Given the description of an element on the screen output the (x, y) to click on. 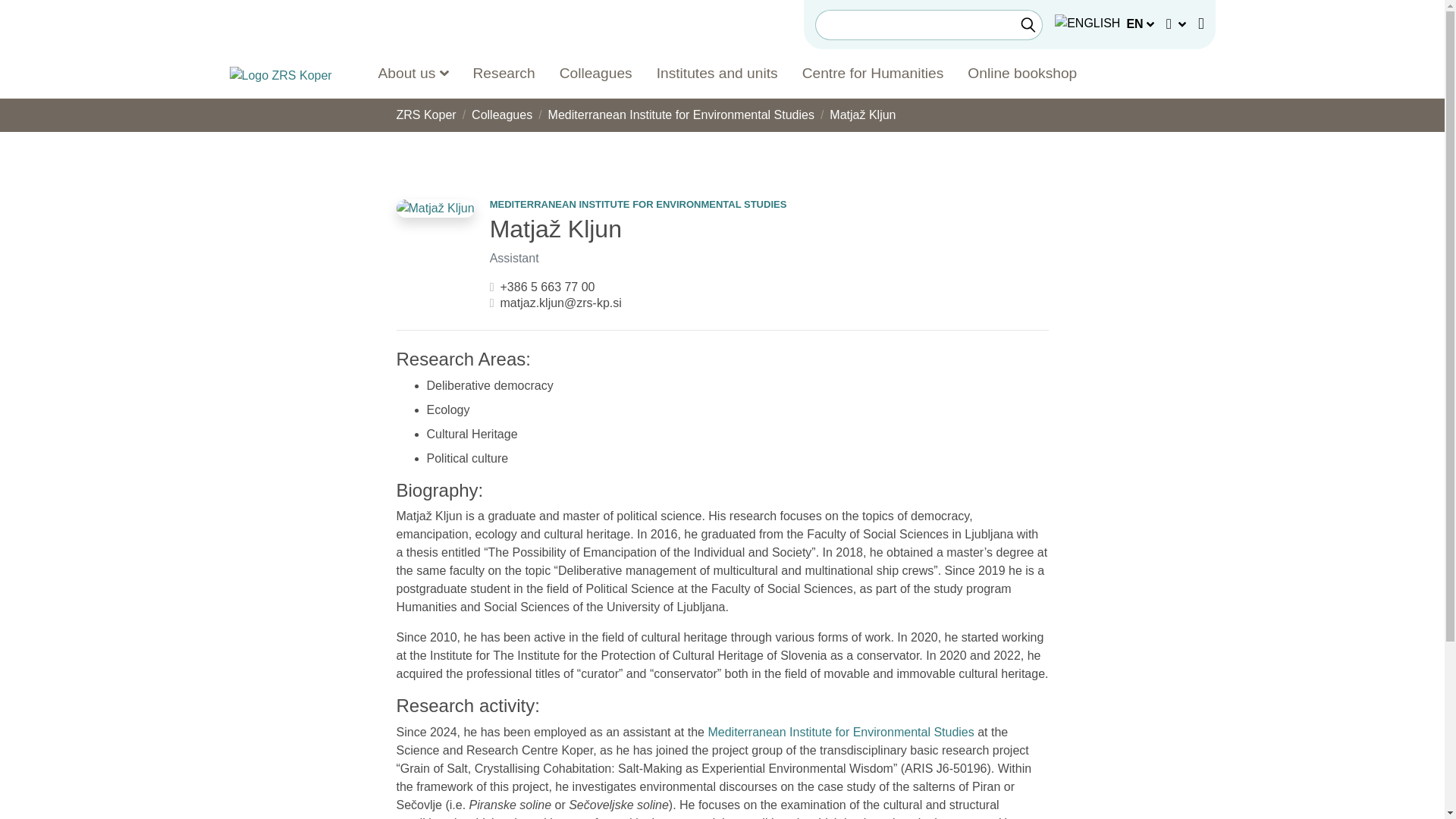
Institutes and units (717, 73)
Research (504, 73)
Home (279, 75)
Mediterranean Institute for Environmental Studies (680, 114)
Centre for Humanities (873, 73)
Research (504, 73)
About us (412, 73)
MEDITERRANEAN INSTITUTE FOR ENVIRONMENTAL STUDIES (638, 204)
English (1086, 23)
ZRS Koper (425, 114)
